Given the description of an element on the screen output the (x, y) to click on. 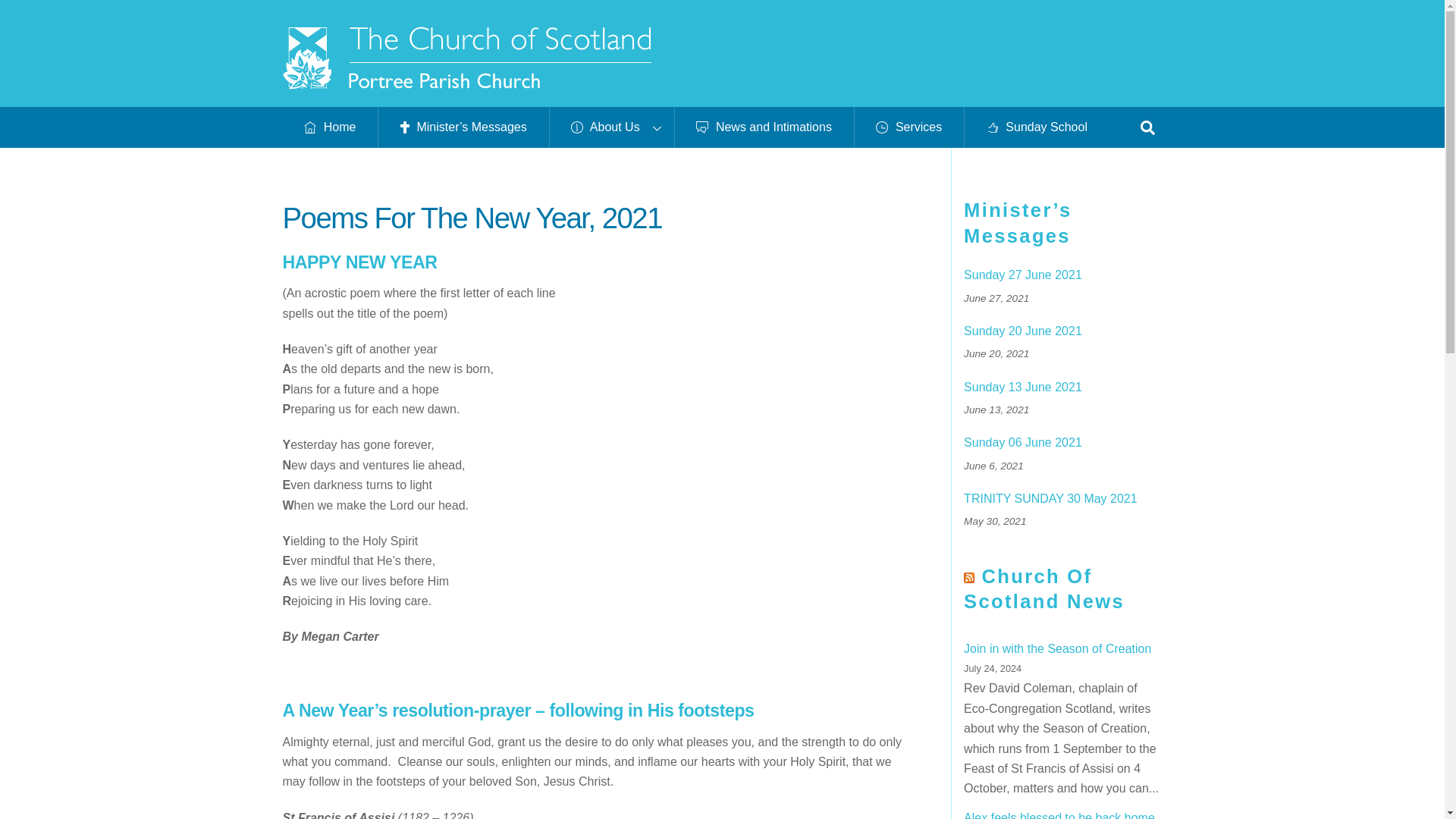
Sunday 13 June 2021 (1062, 387)
Home (329, 127)
Alex feels blessed to be back home in Argyll (1058, 815)
Sunday 20 June 2021 (1062, 331)
News and Intimations (763, 127)
TRINITY SUNDAY 30 May 2021 (1062, 498)
Services (908, 127)
Join in with the Season of Creation (1057, 648)
Portree Parish Church of Scotland (466, 82)
Search (1146, 126)
Sunday School (1036, 127)
Sunday 06 June 2021 (1062, 442)
About Us (611, 127)
Poems For The New Year, 2021 (471, 217)
Church Of Scotland News (1043, 588)
